Given the description of an element on the screen output the (x, y) to click on. 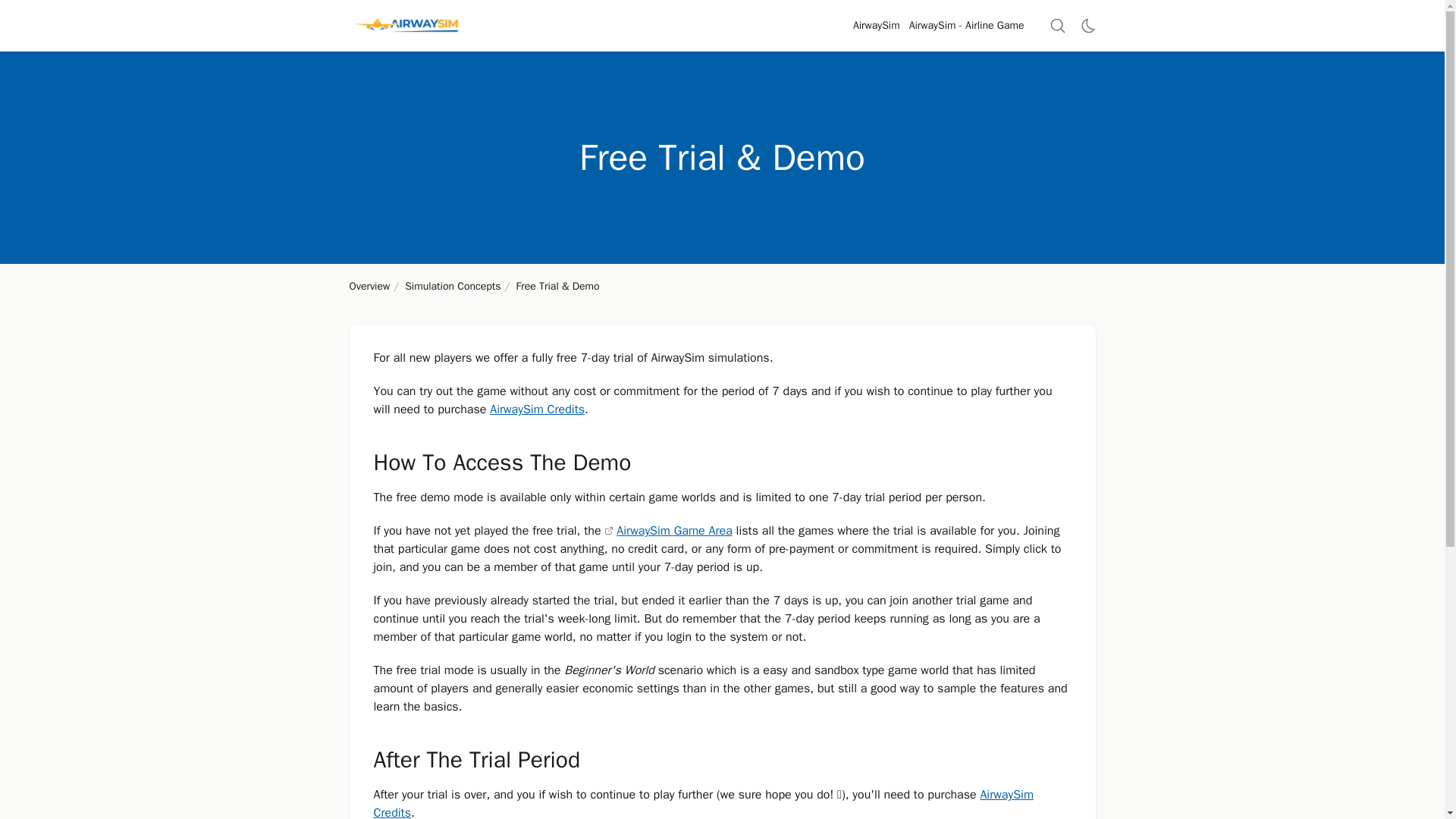
AirwaySim Documentation (406, 26)
Overview (369, 286)
AirwaySim (876, 25)
Simulation Concepts (452, 286)
AirwaySim Game Area (668, 530)
AirwaySim Credits (537, 409)
AirwaySim - Airline Game (966, 25)
AirwaySim Credits (702, 803)
